Given the description of an element on the screen output the (x, y) to click on. 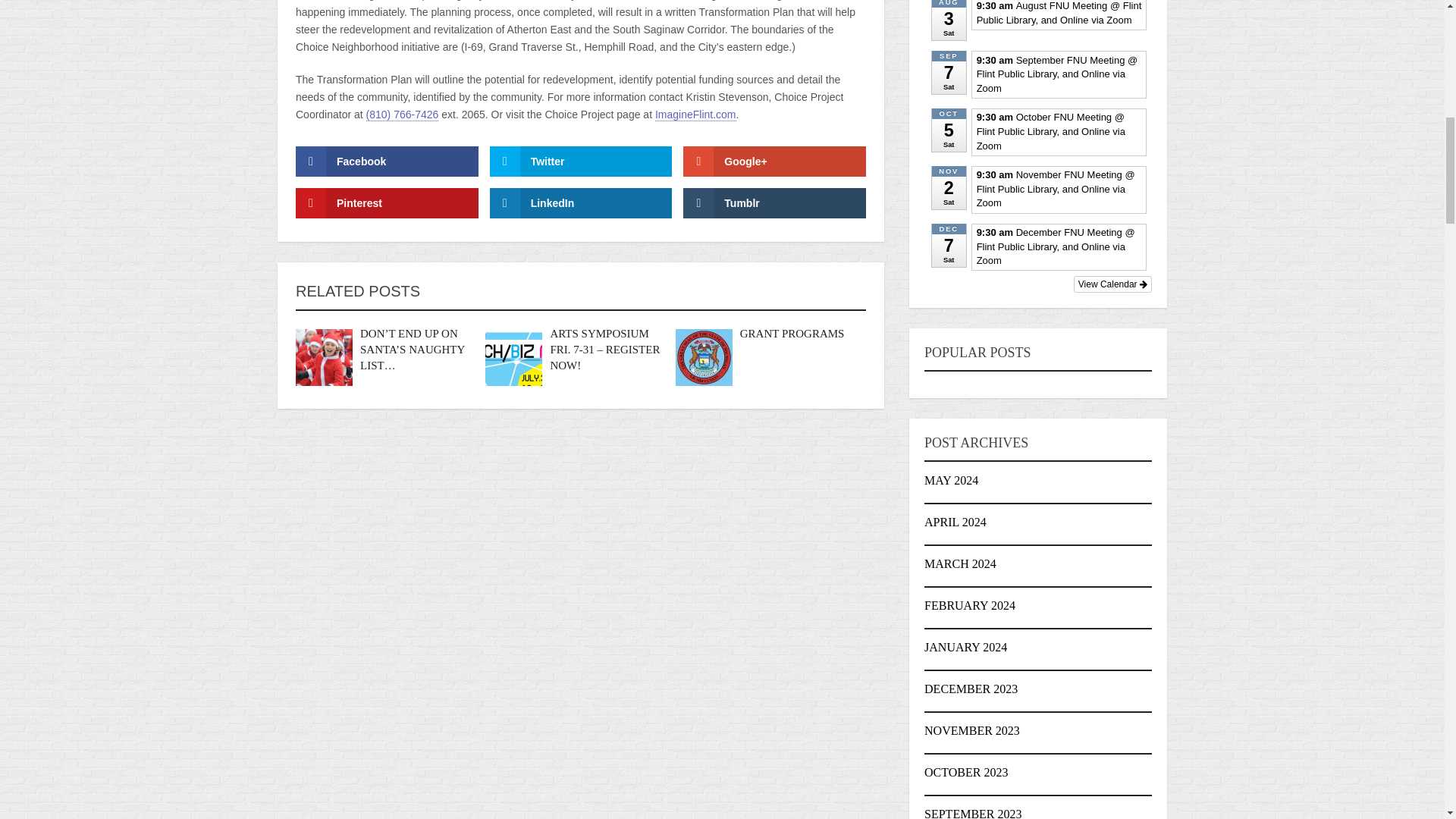
Twitter (580, 161)
Tumblr (774, 203)
Facebook (387, 161)
Grant Programs (703, 357)
GRANT PROGRAMS (791, 333)
Grant Programs (791, 333)
ImagineFlint.com (695, 114)
LinkedIn (580, 203)
Pinterest (387, 203)
